Given the description of an element on the screen output the (x, y) to click on. 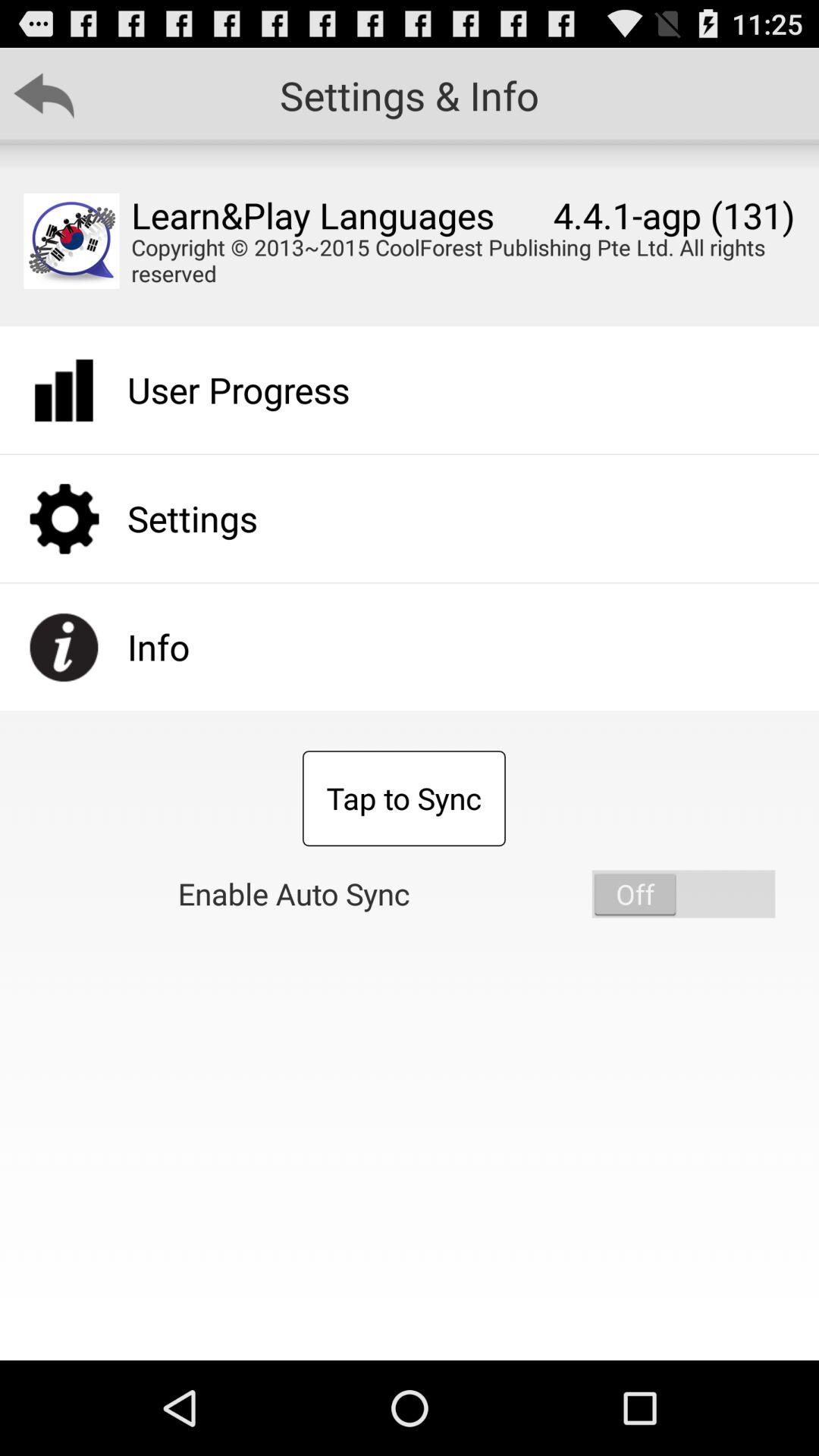
turn off the icon next to enable auto sync item (683, 893)
